Given the description of an element on the screen output the (x, y) to click on. 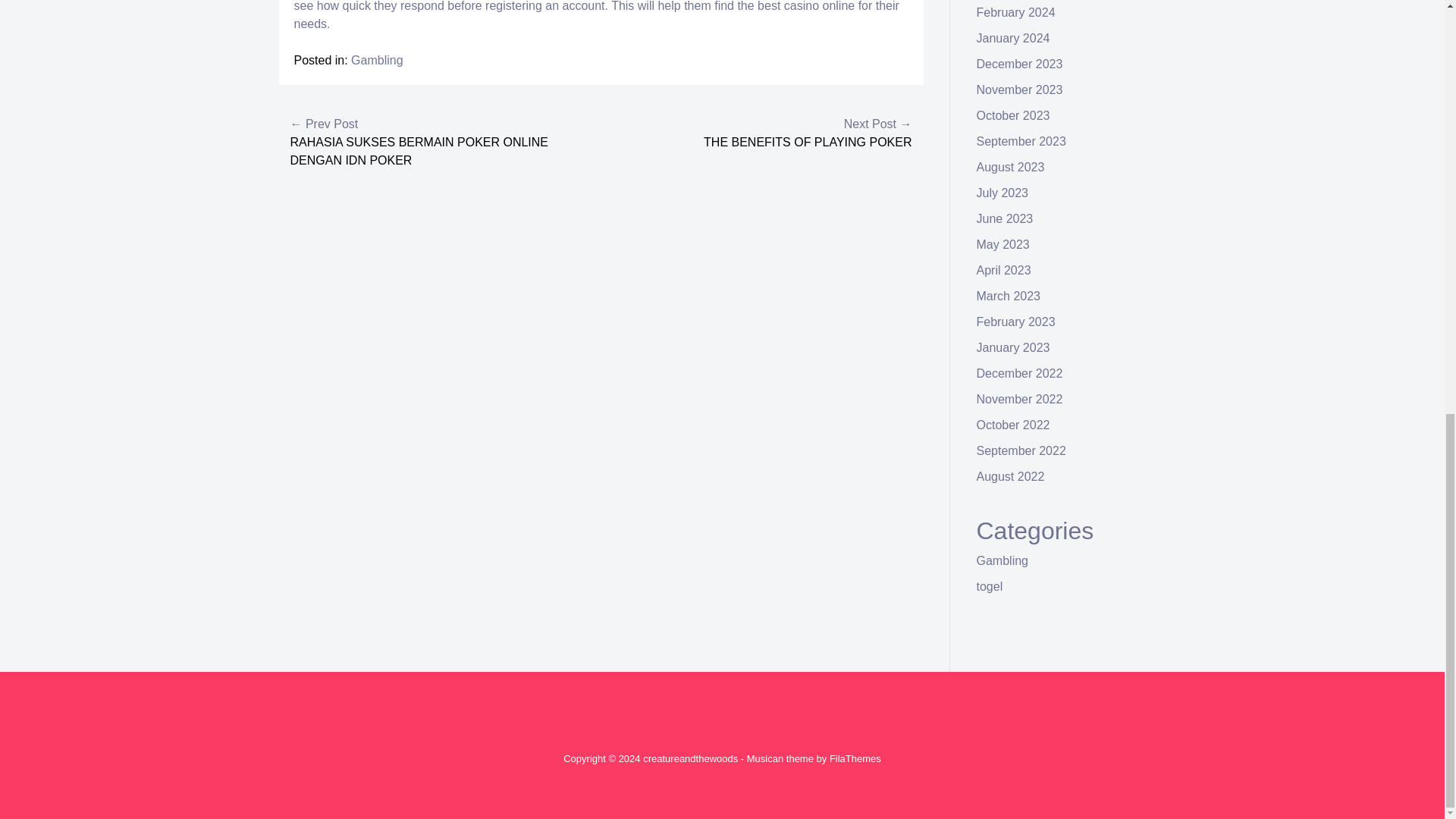
March 2023 (1008, 295)
August 2023 (1010, 166)
May 2023 (1002, 244)
September 2022 (1020, 450)
Gambling (376, 60)
September 2023 (1020, 141)
June 2023 (1004, 218)
February 2024 (1015, 11)
Gambling (1001, 560)
November 2022 (1019, 399)
togel (989, 585)
February 2023 (1015, 321)
August 2022 (1010, 476)
July 2023 (1002, 192)
November 2023 (1019, 89)
